Given the description of an element on the screen output the (x, y) to click on. 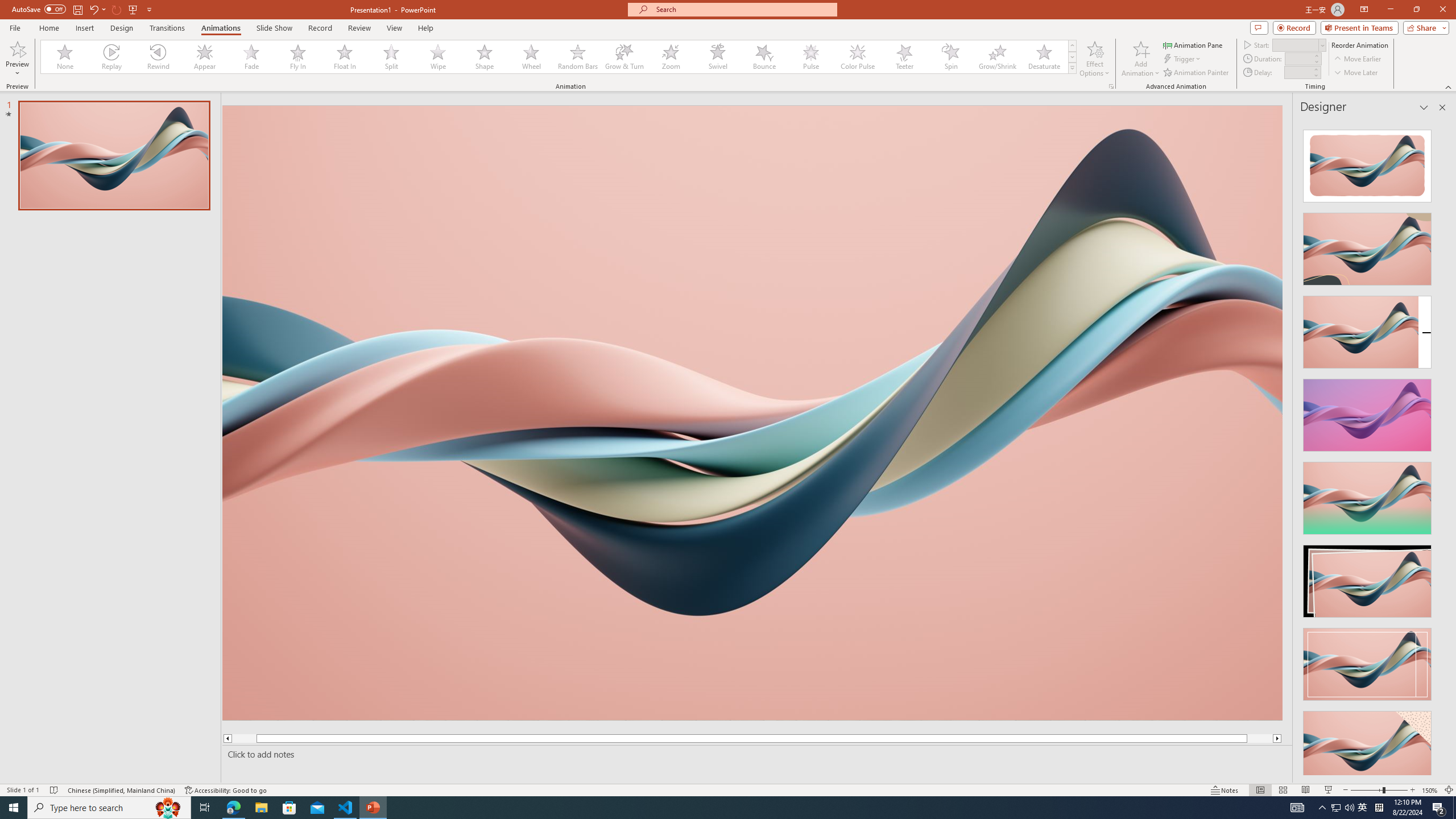
Shape (484, 56)
More Options... (1110, 85)
Pulse (810, 56)
